Given the description of an element on the screen output the (x, y) to click on. 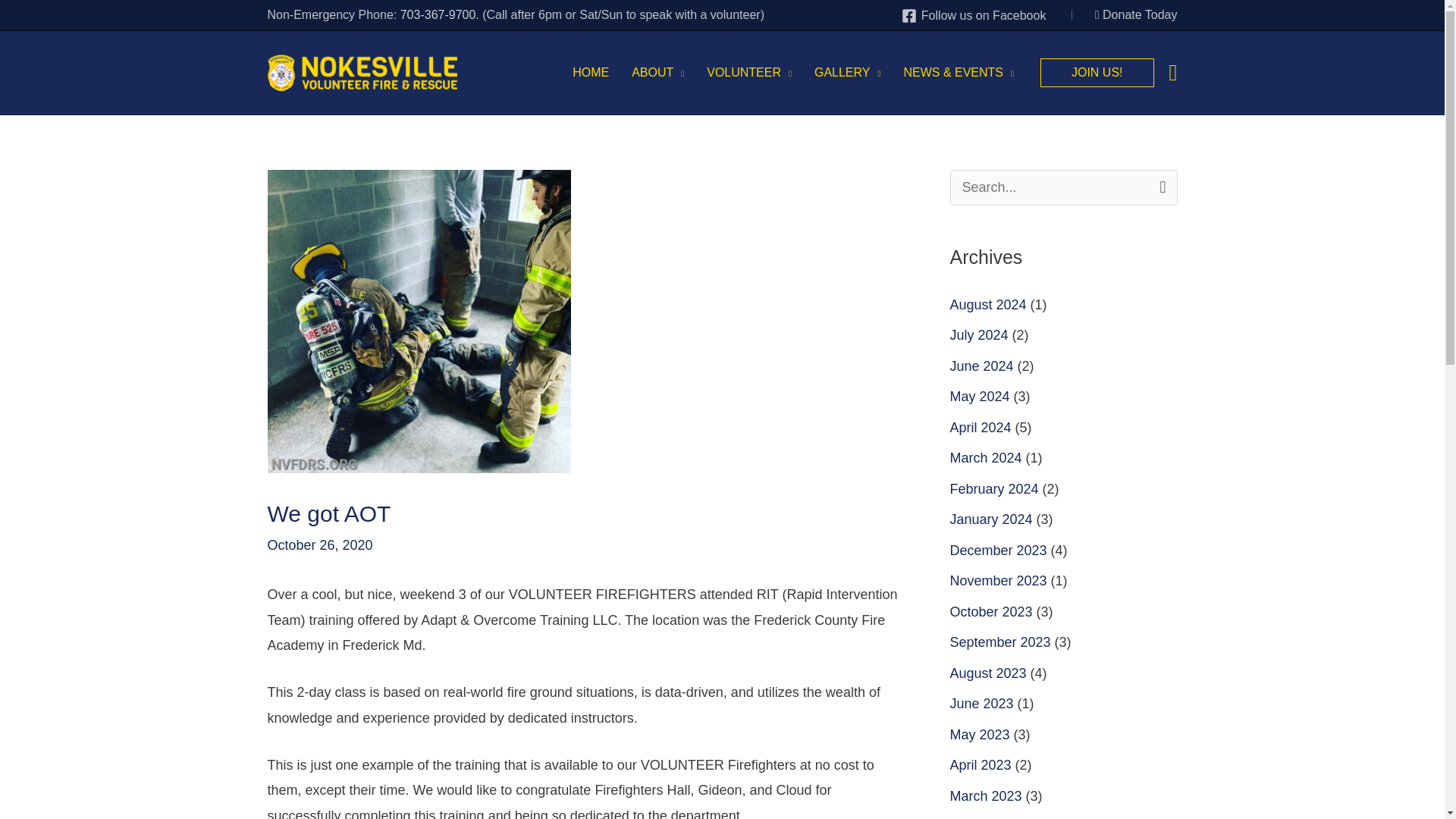
GALLERY (847, 72)
Donate Today (1135, 14)
Follow us on Facebook (972, 15)
VOLUNTEER (749, 72)
JOIN US! (1097, 72)
ABOUT (657, 72)
Search (1159, 186)
Search (1159, 186)
703-367-9700 (438, 14)
